Given the description of an element on the screen output the (x, y) to click on. 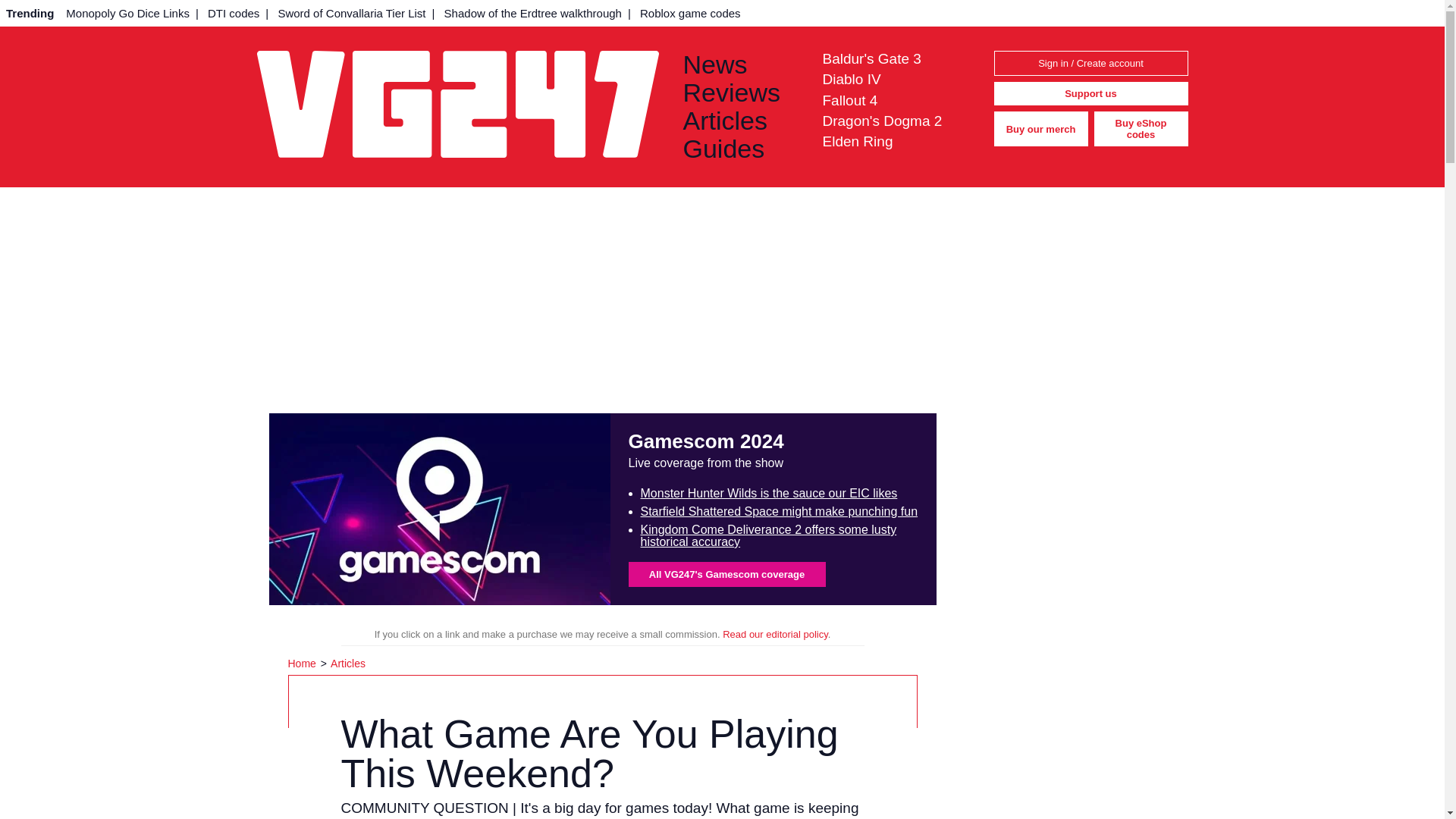
Read our editorial policy (775, 633)
Support us (1090, 93)
Reviews (739, 92)
Monster Hunter Wilds is the sauce our EIC likes (768, 492)
Articles (347, 663)
All VG247's Gamescom coverage (726, 574)
Fallout 4 (849, 100)
Guides (739, 148)
DTI codes (233, 13)
